Given the description of an element on the screen output the (x, y) to click on. 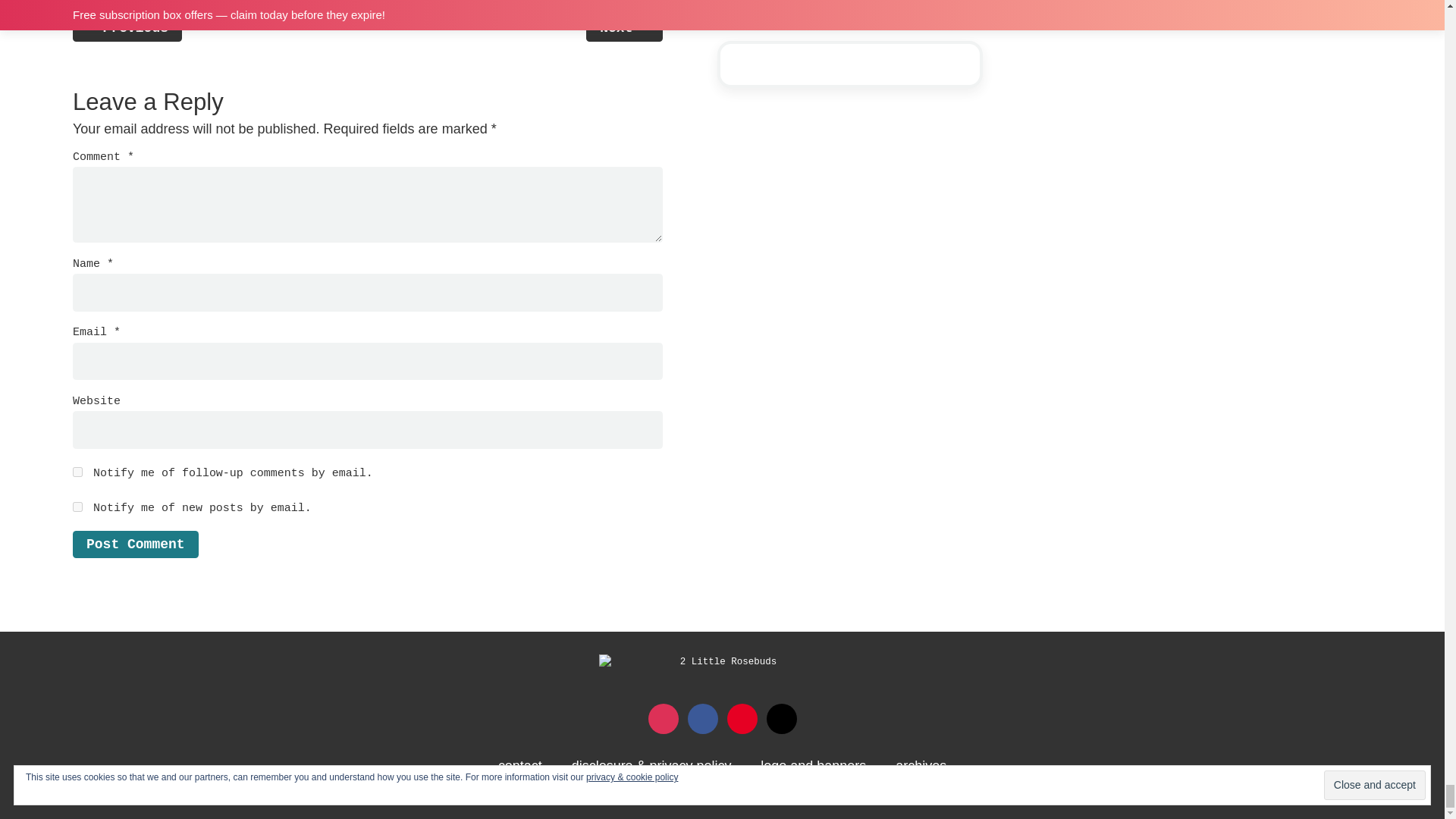
Post Comment (135, 543)
subscribe (77, 506)
subscribe (77, 471)
